Given the description of an element on the screen output the (x, y) to click on. 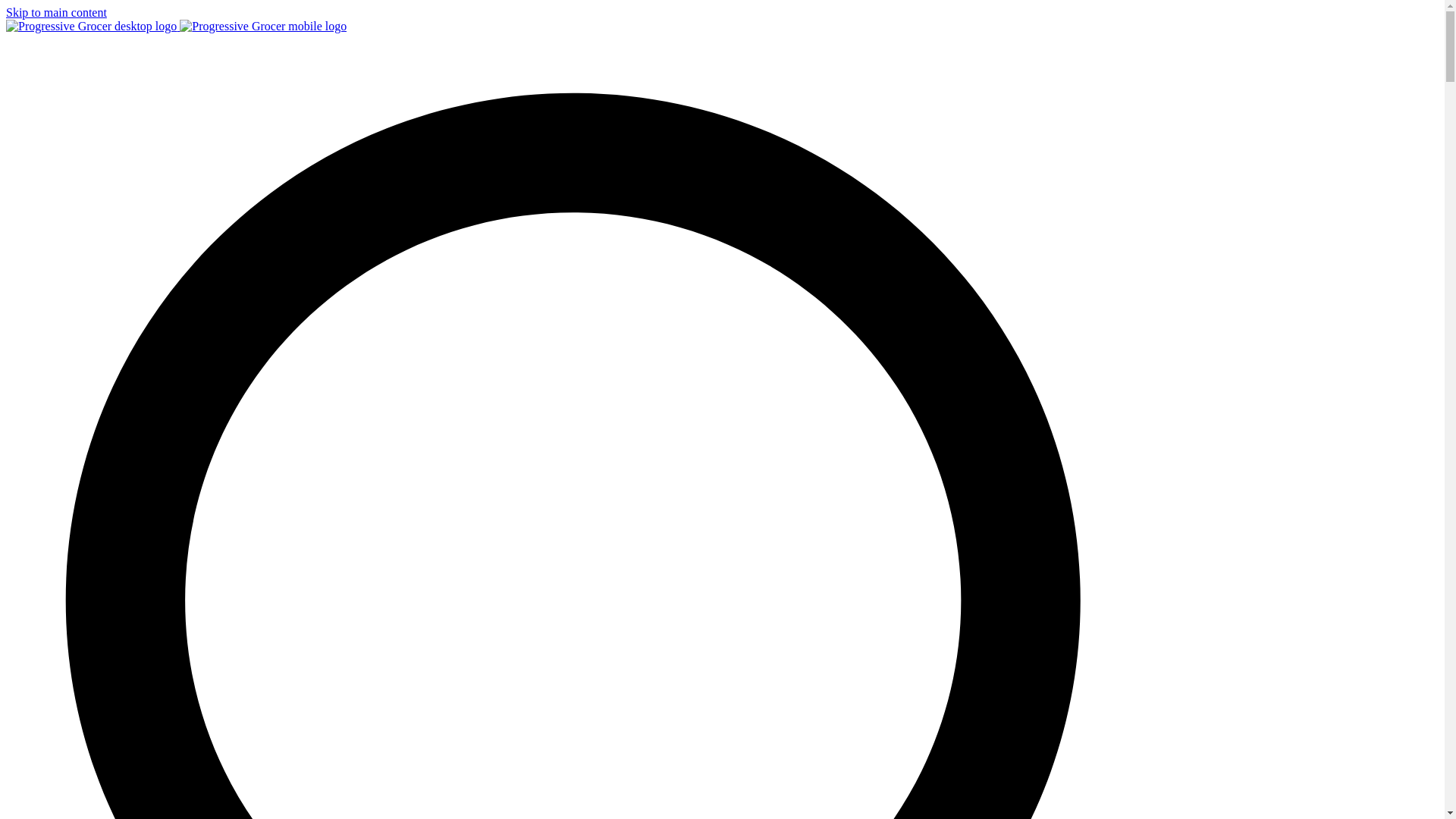
Skip to main content (55, 11)
